Given the description of an element on the screen output the (x, y) to click on. 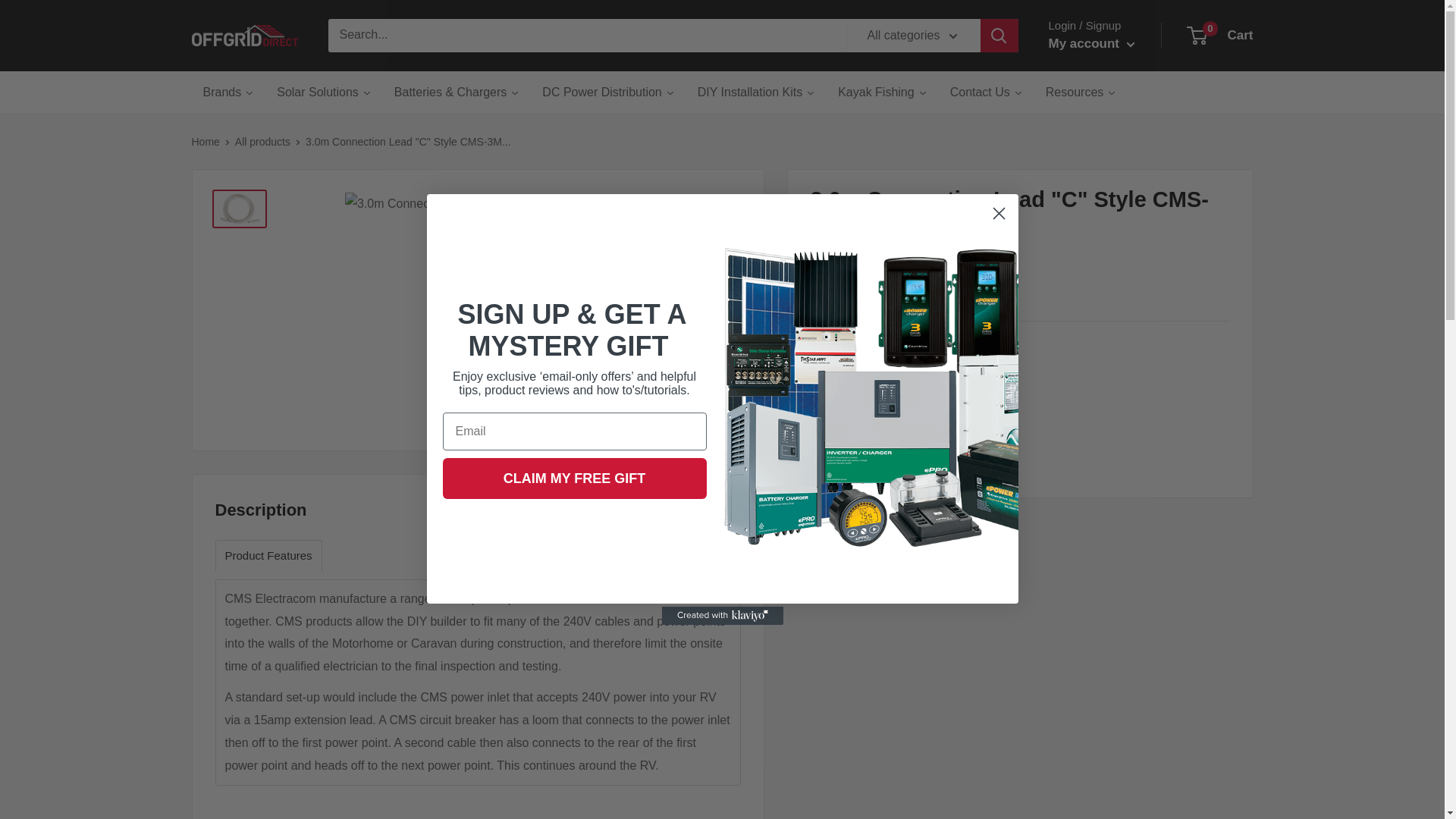
DC Power Distribution (608, 92)
Brands (227, 92)
1 (929, 400)
Kayak Fishing (883, 92)
Solar Solutions (323, 92)
Contact Us (986, 92)
DIY Installation Kits (756, 92)
Resources (1079, 92)
Increase quantity by 1 (969, 400)
Decrease quantity by 1 (889, 400)
